Given the description of an element on the screen output the (x, y) to click on. 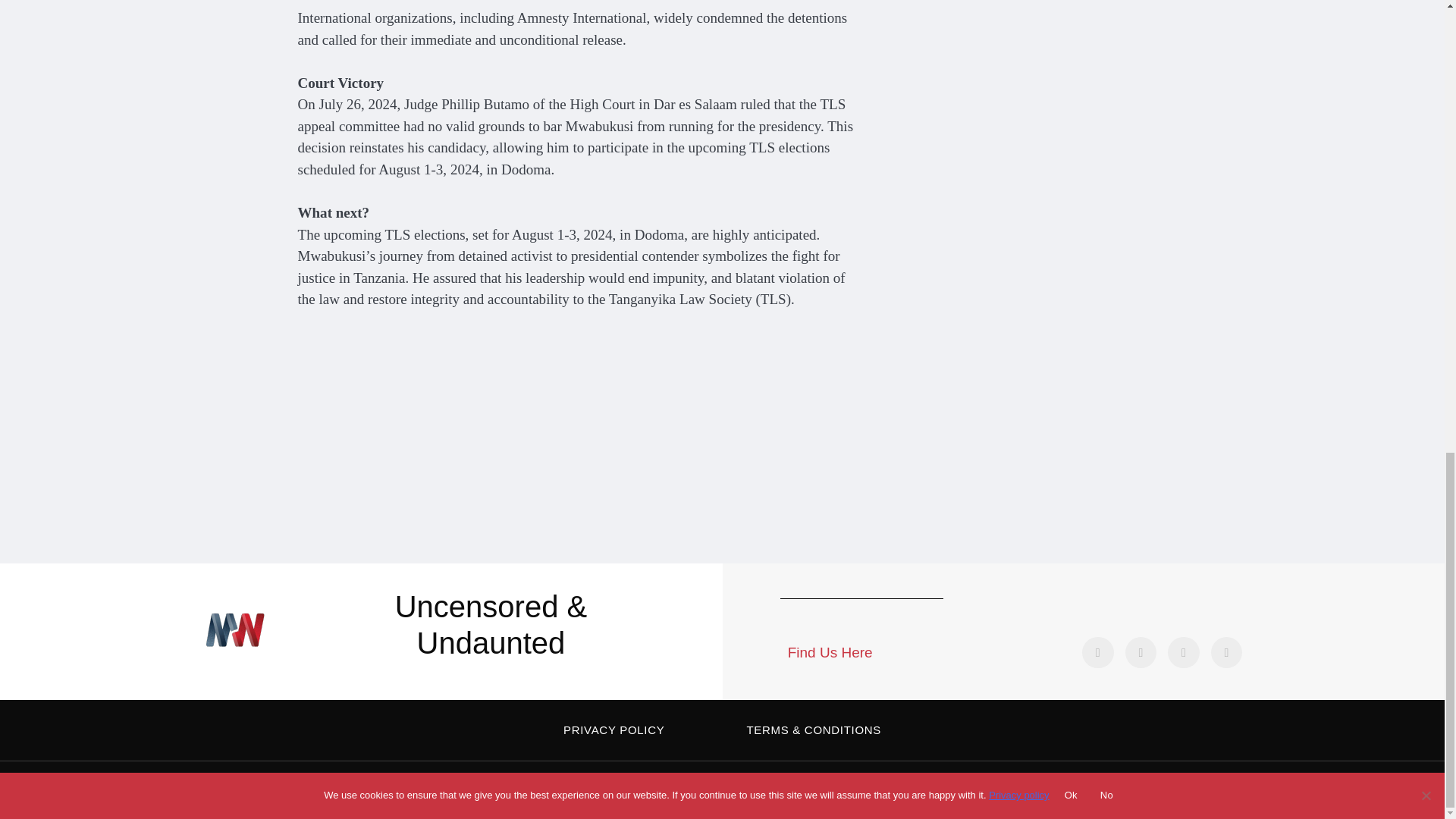
PRIVACY POLICY (613, 729)
